Given the description of an element on the screen output the (x, y) to click on. 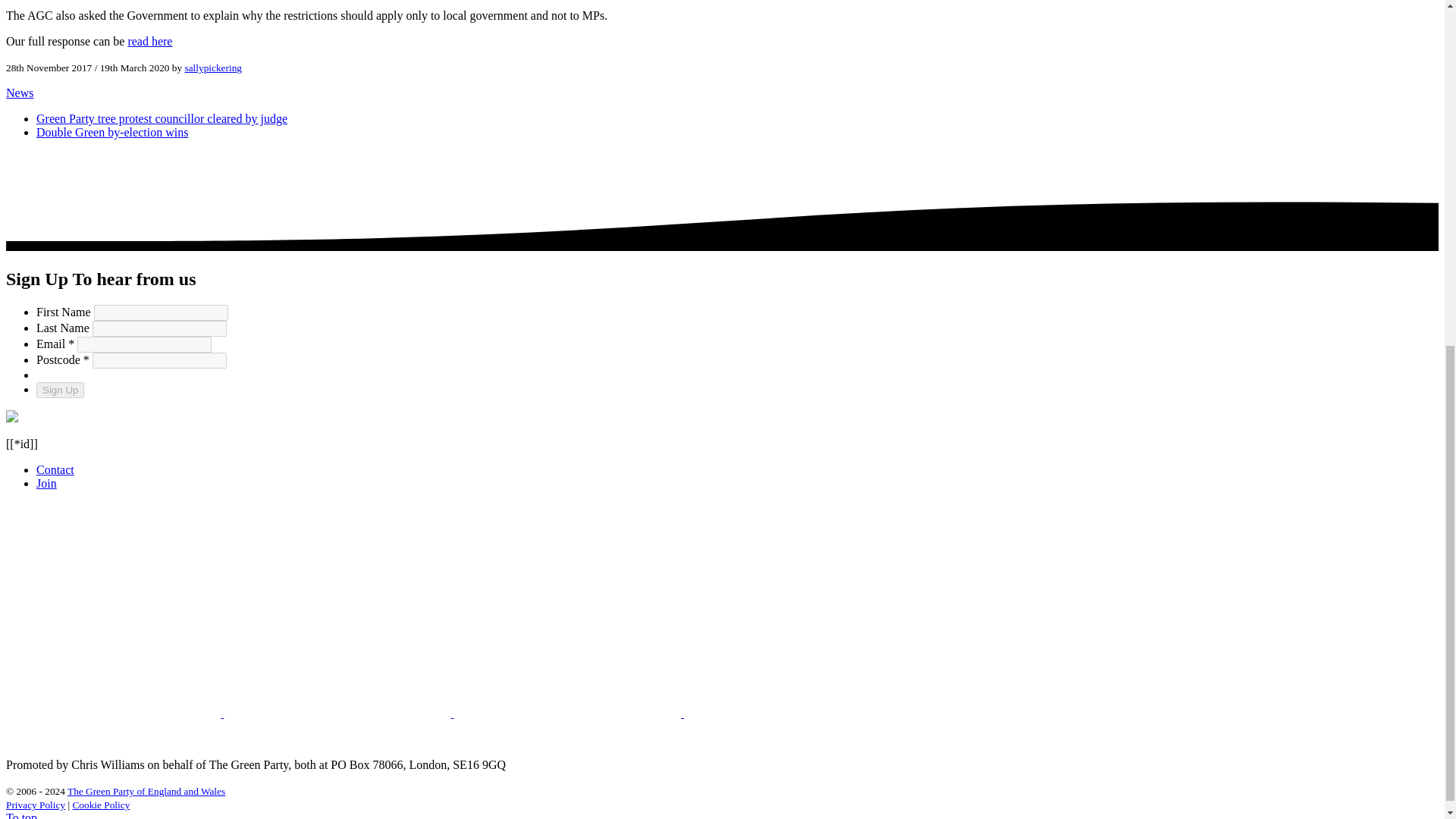
News (19, 92)
Double Green by-election wins (111, 132)
Green Party tree protest councillor cleared by judge (161, 118)
Sign Up (60, 390)
Sign Up (60, 390)
read here (149, 41)
sallypickering (212, 67)
Cookie Policy (100, 804)
Privacy Policy (35, 804)
The Green Party of England and Wales (145, 790)
